Given the description of an element on the screen output the (x, y) to click on. 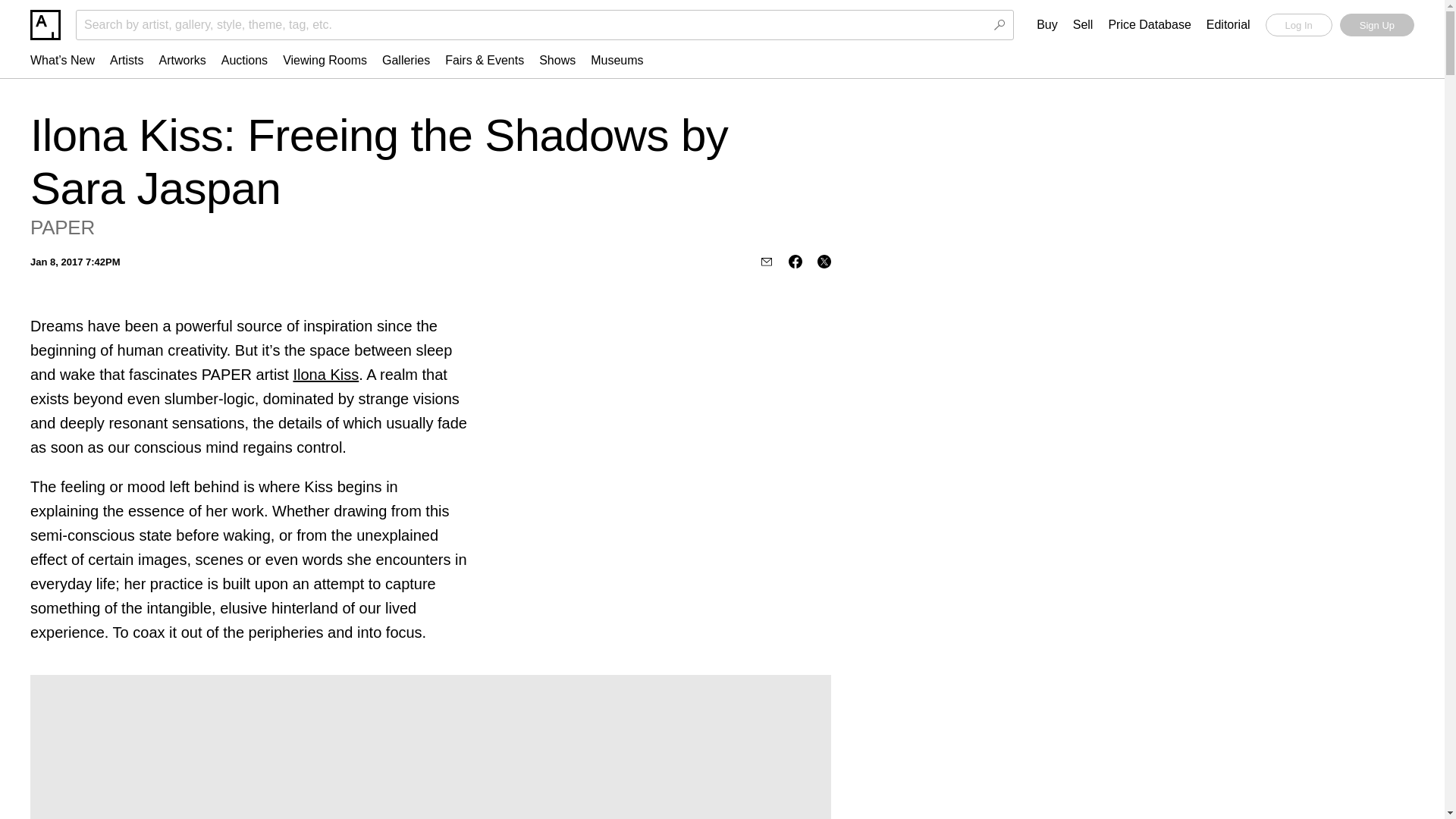
Viewing Rooms (324, 59)
Price Database (1149, 25)
Shows (557, 59)
Ilona Kiss (325, 374)
Share via email (766, 261)
Sign Up (1376, 24)
Sell (1082, 25)
Galleries (406, 59)
Auctions (244, 59)
Museums (616, 59)
